Given the description of an element on the screen output the (x, y) to click on. 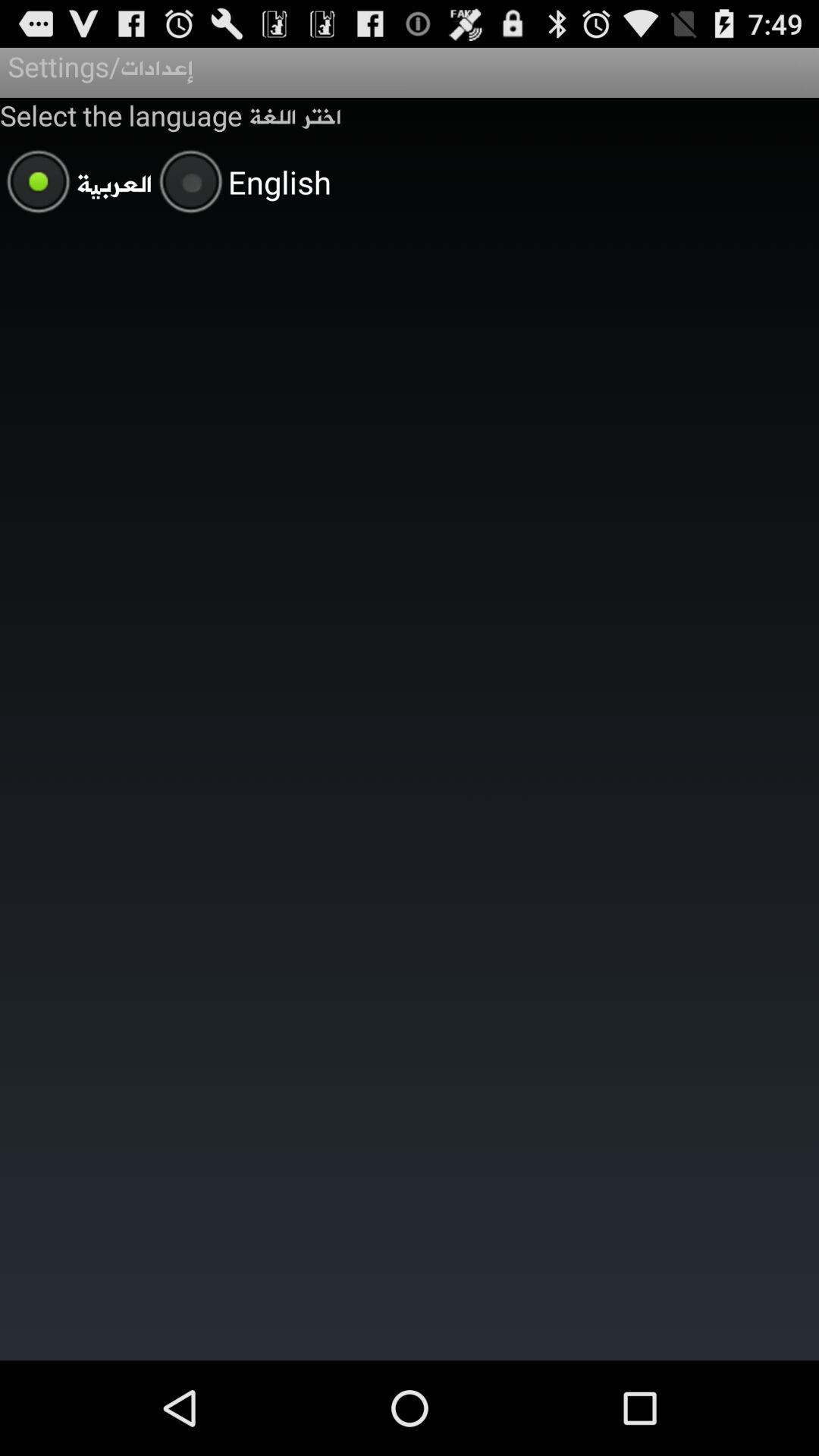
turn off radio button next to the english (76, 184)
